Given the description of an element on the screen output the (x, y) to click on. 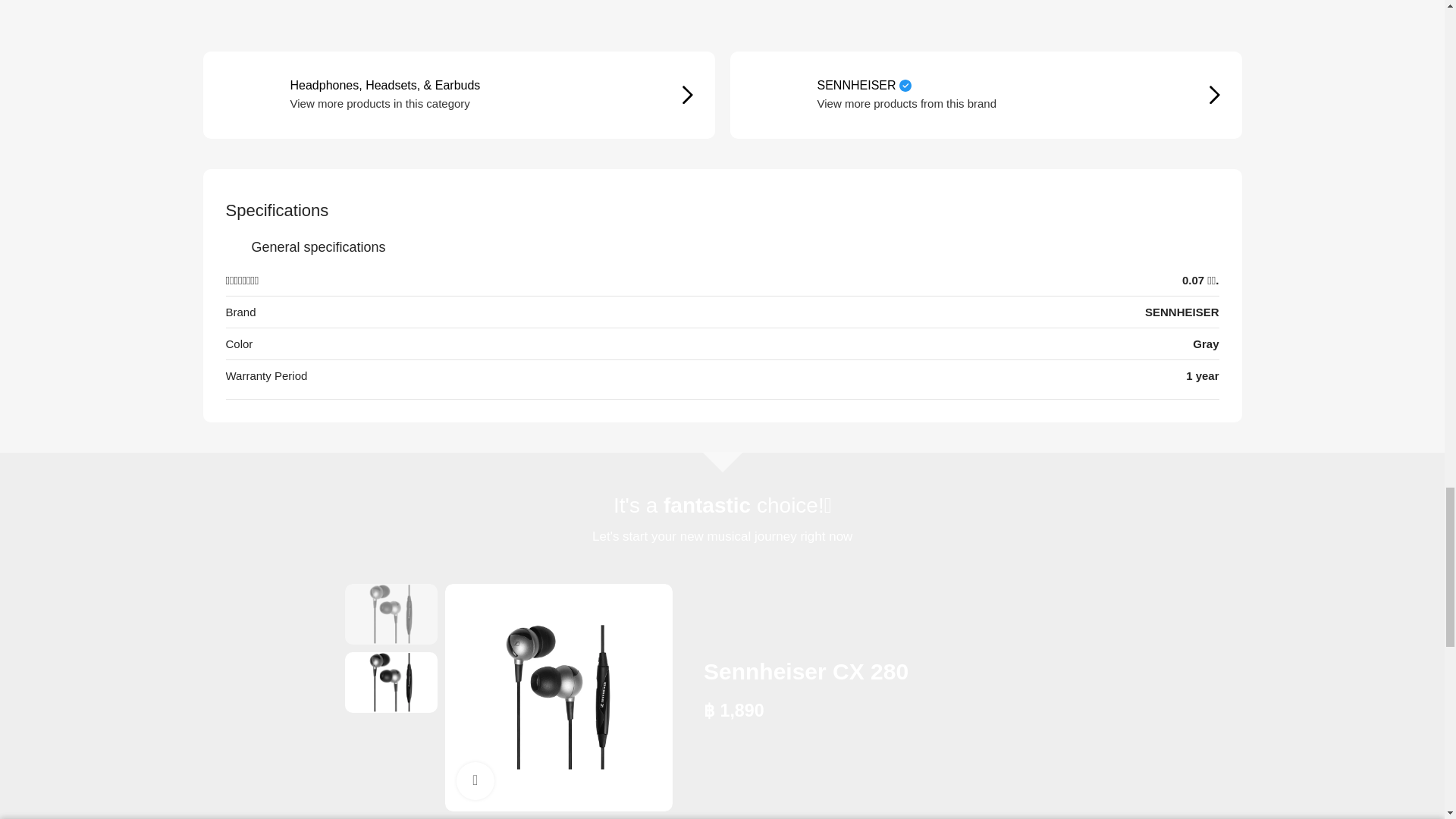
overview.svg (234, 247)
